Given the description of an element on the screen output the (x, y) to click on. 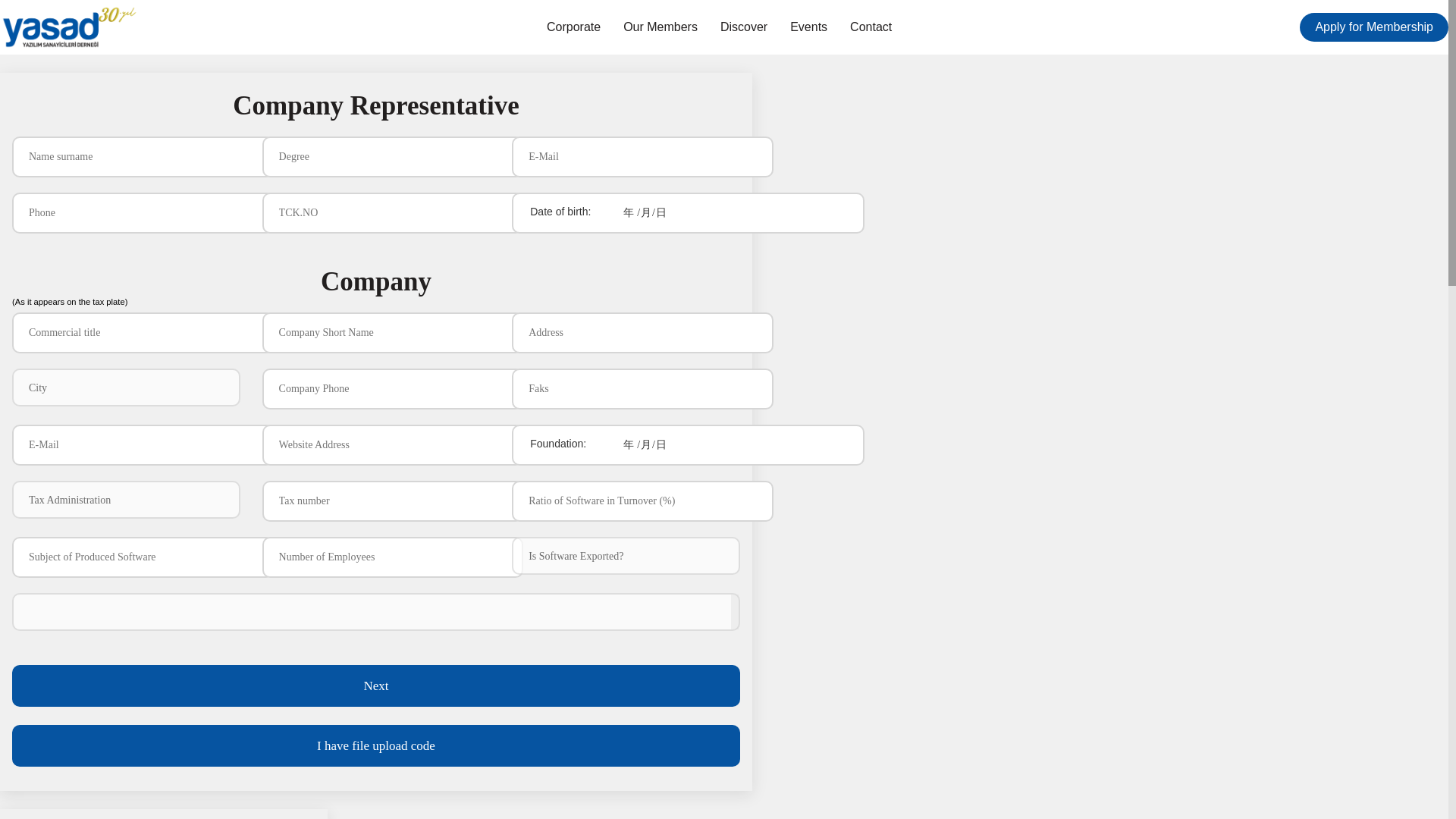
Contact (870, 27)
Apply for Membership (1374, 27)
Our Members (660, 27)
Events (808, 27)
Next (375, 685)
Corporate (573, 27)
Discover (743, 27)
